Given the description of an element on the screen output the (x, y) to click on. 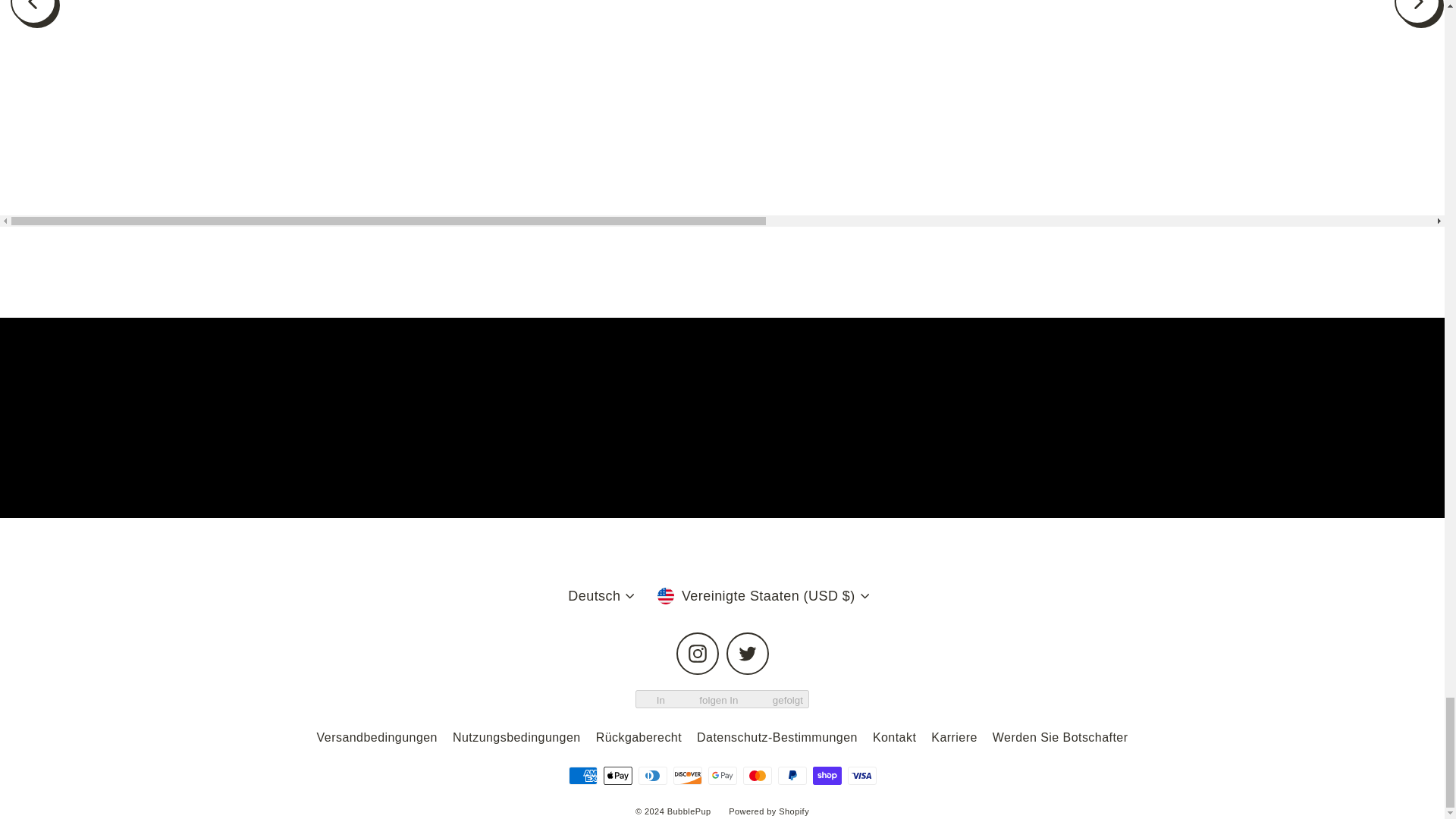
American Express (582, 775)
instagram (697, 653)
twitter (747, 653)
BubblePup auf Twitter (747, 653)
BubblePup auf Instagram (698, 653)
